Given the description of an element on the screen output the (x, y) to click on. 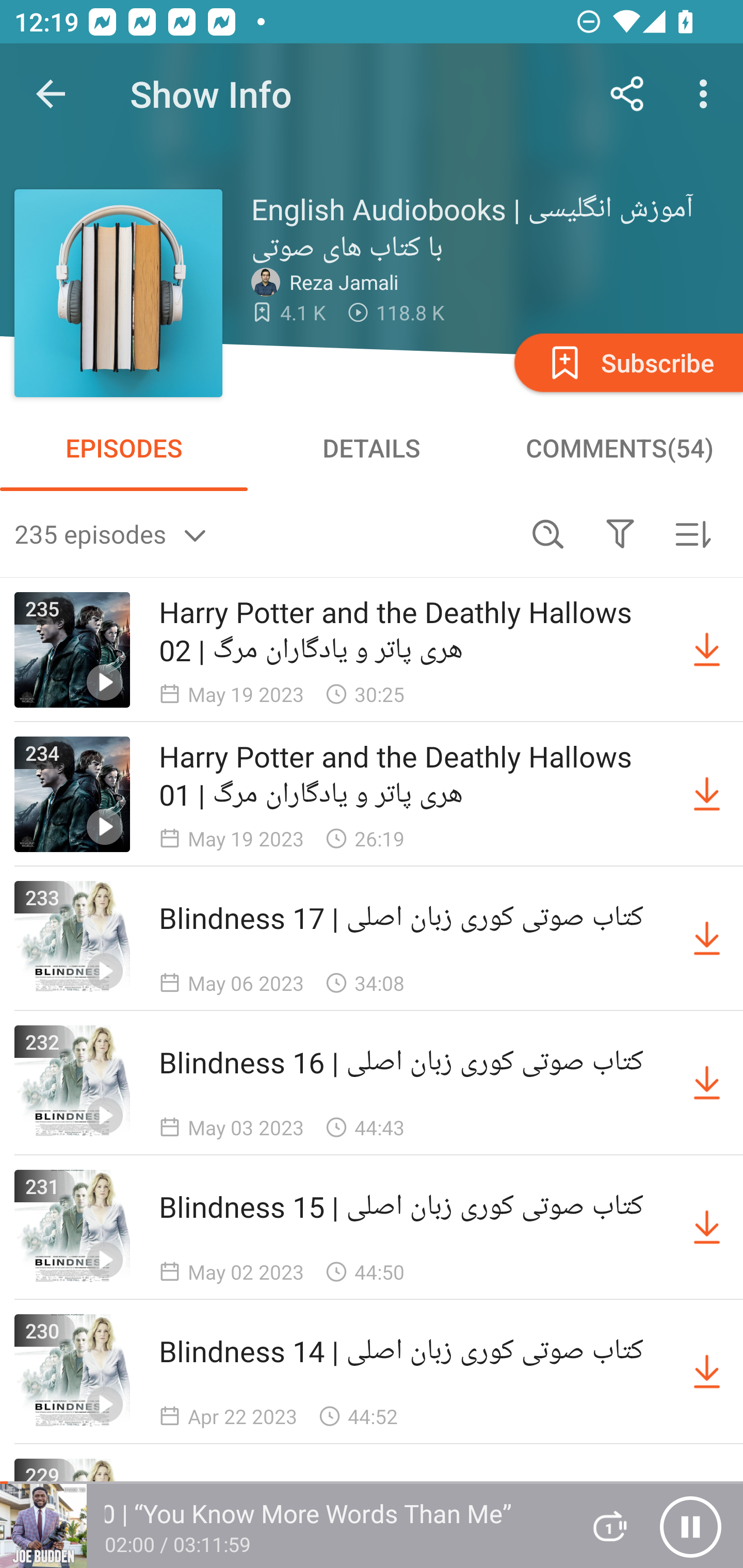
Navigate up (50, 93)
Share (626, 93)
More options (706, 93)
Reza Jamali (329, 282)
Subscribe (627, 361)
EPISODES (123, 447)
DETAILS (371, 447)
COMMENTS(54) (619, 447)
235 episodes  (262, 533)
 Search (547, 533)
 (619, 533)
 Sorted by newest first (692, 533)
Download (706, 649)
Download (706, 793)
Download (706, 939)
Download (706, 1083)
Download (706, 1227)
Download (706, 1371)
Pause (690, 1526)
